Given the description of an element on the screen output the (x, y) to click on. 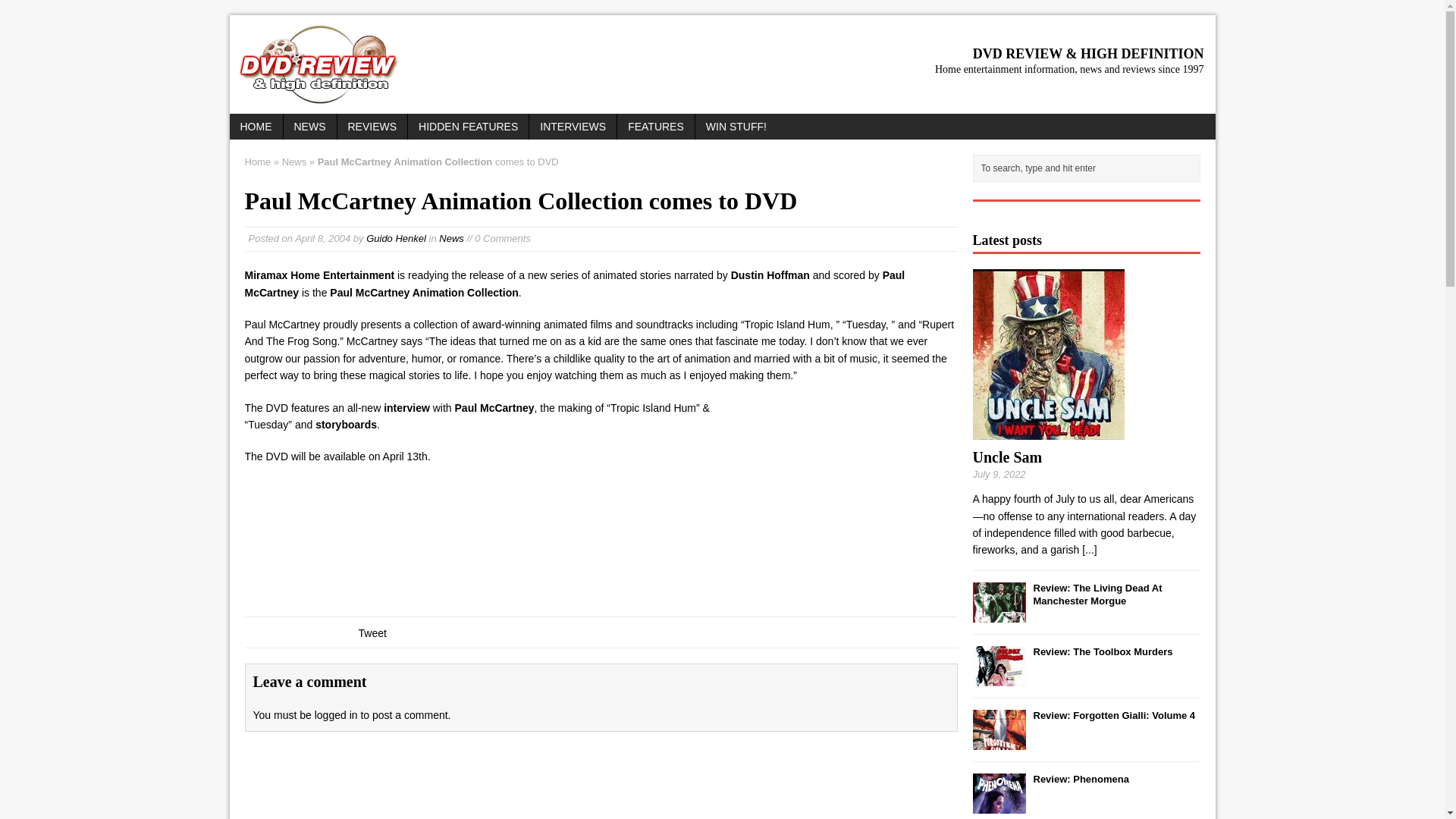
News (294, 161)
FEATURES (655, 126)
Uncle Sam (1048, 431)
Review: Phenomena (1080, 778)
Forgotten Gialli: Volume 4 (1113, 715)
Guido Henkel (396, 238)
NEWS (309, 126)
Phenomena (1080, 778)
The Living Dead At Manchester Morgue (998, 613)
To search, type and hit enter (1089, 167)
News (451, 238)
WIN STUFF! (736, 126)
Forgotten Gialli: Volume 4 (998, 740)
INTERVIEWS (572, 126)
Home (257, 161)
